Given the description of an element on the screen output the (x, y) to click on. 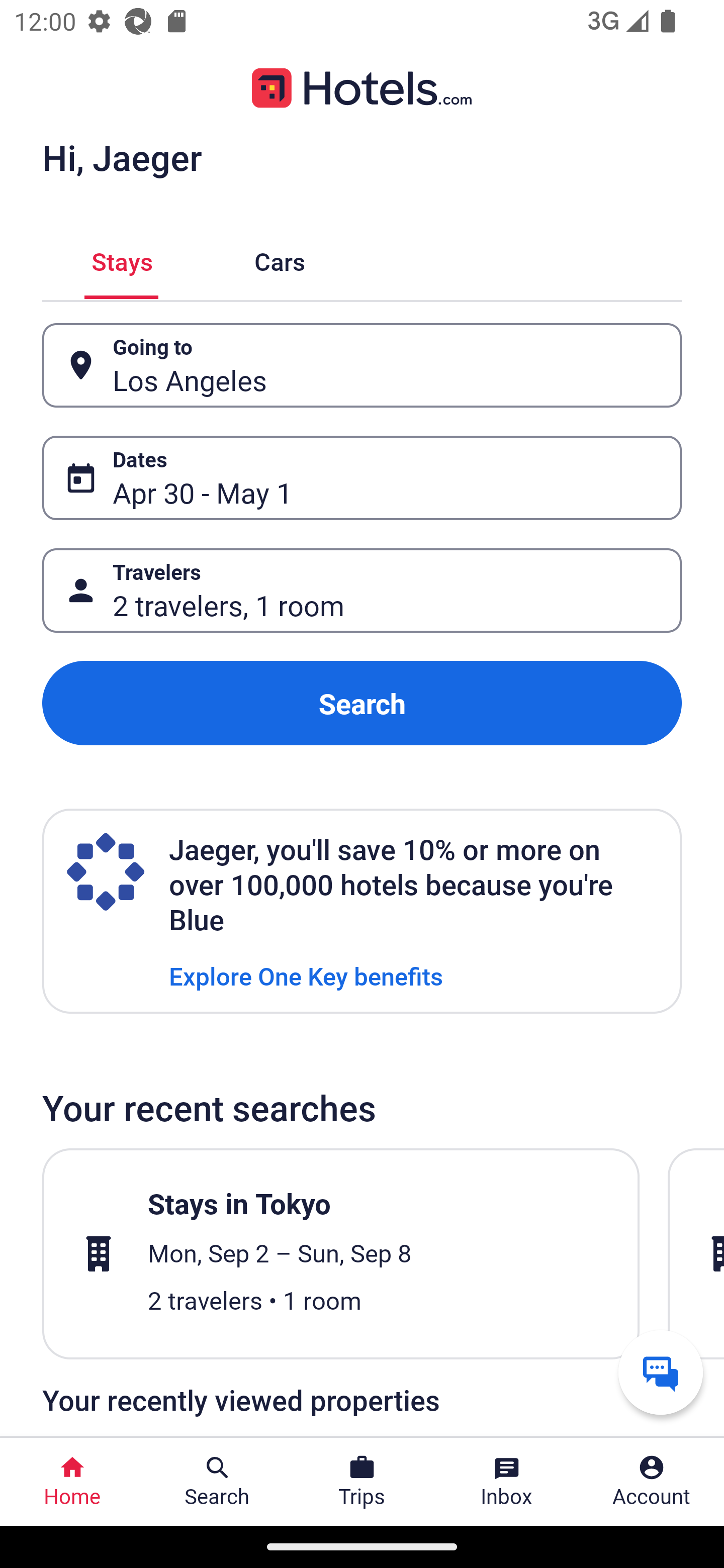
Hi, Jaeger (121, 156)
Cars (279, 259)
Going to Button Los Angeles (361, 365)
Dates Button Apr 30 - May 1 (361, 477)
Travelers Button 2 travelers, 1 room (361, 590)
Search (361, 702)
Get help from a virtual agent (660, 1371)
Search Search Button (216, 1481)
Trips Trips Button (361, 1481)
Inbox Inbox Button (506, 1481)
Account Profile. Button (651, 1481)
